Given the description of an element on the screen output the (x, y) to click on. 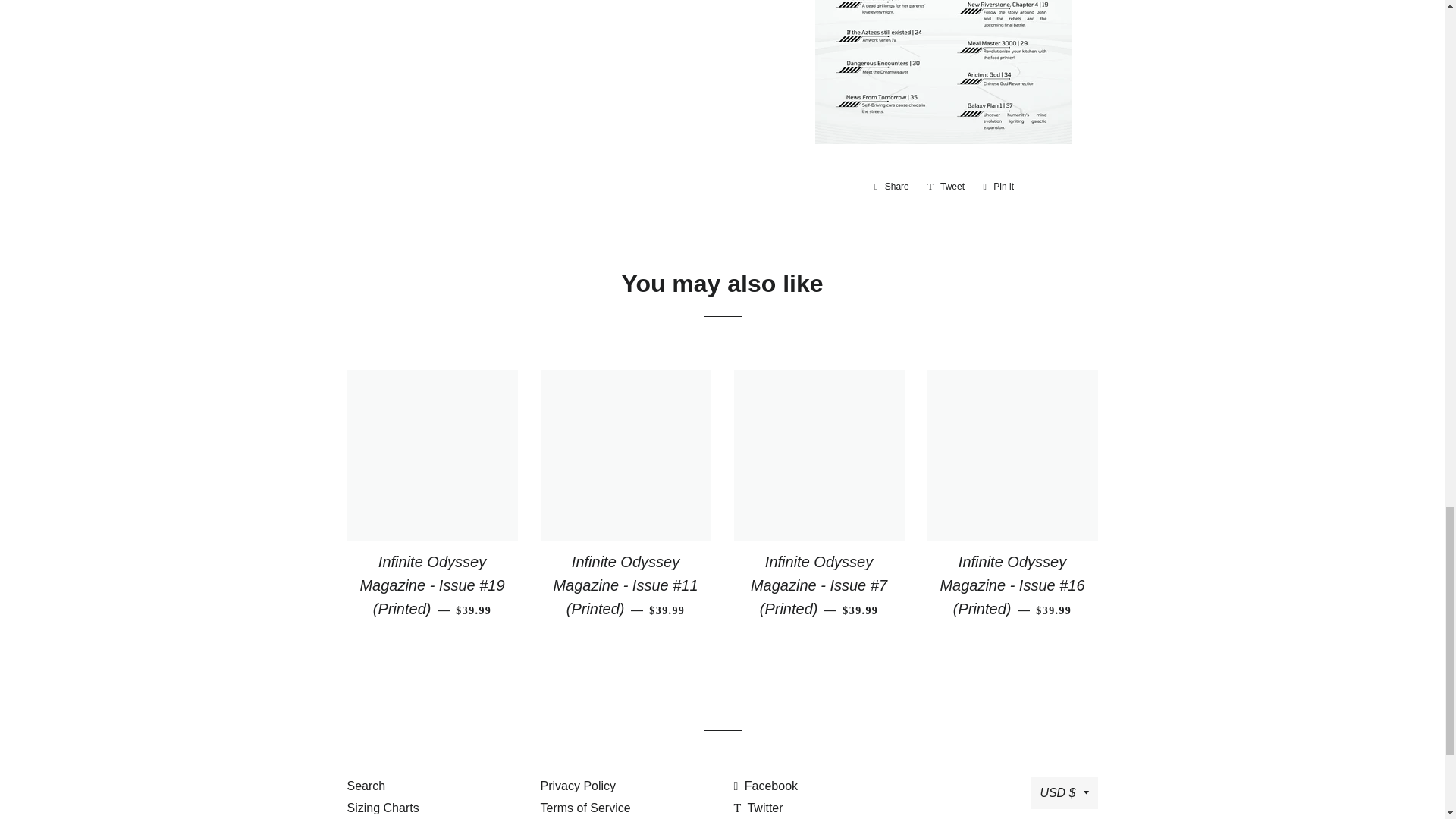
Pin on Pinterest (998, 186)
Share on Facebook (891, 186)
TheSciFi.Net on Facebook (765, 785)
Tweet on Twitter (946, 186)
TheSciFi.Net on Twitter (758, 807)
